Given the description of an element on the screen output the (x, y) to click on. 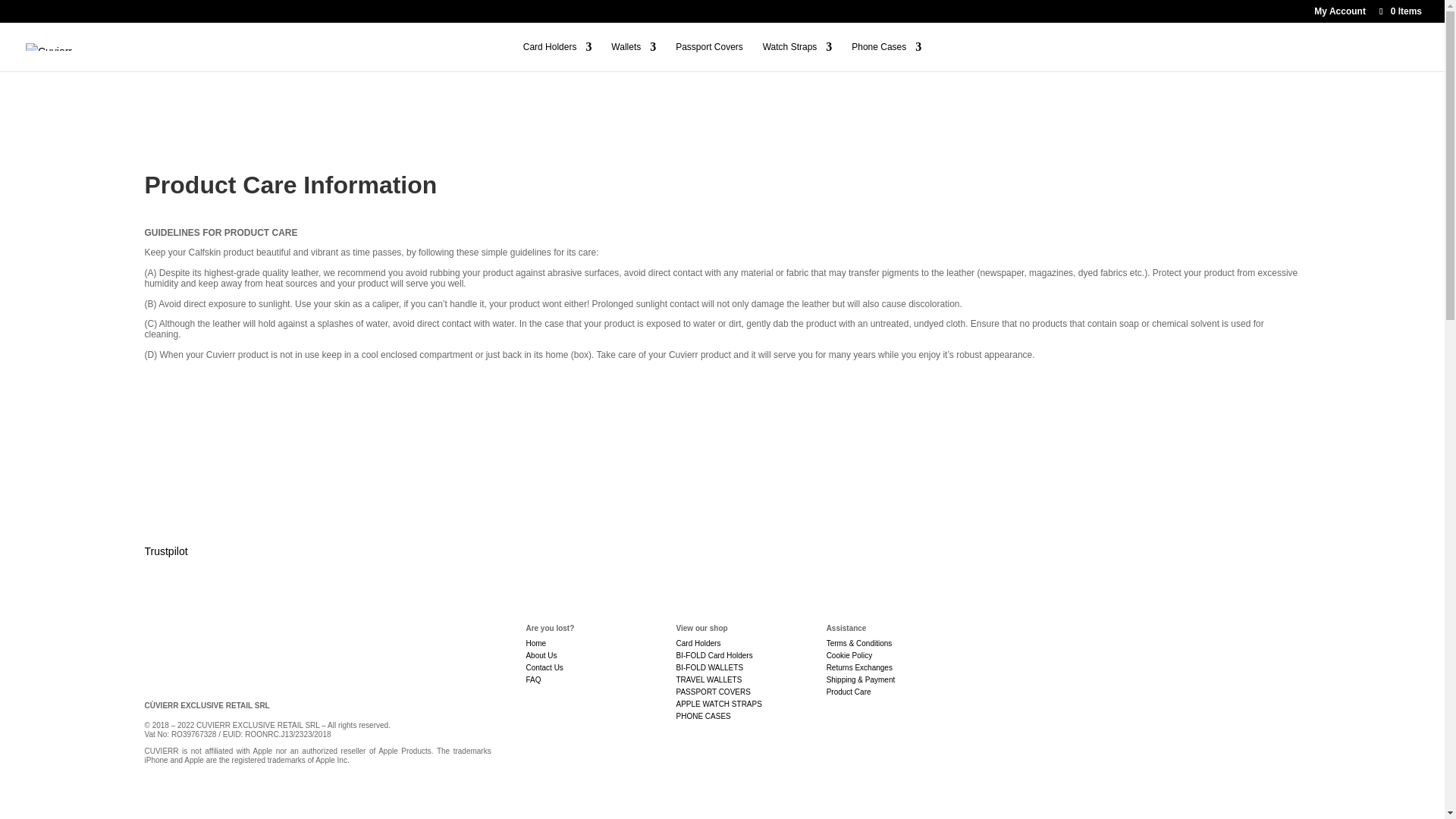
0 Items (1399, 10)
Contact Us (543, 667)
My Account (1339, 14)
Card Holders (698, 643)
Passport Covers (708, 56)
FAQ (532, 679)
About Us (540, 655)
Trustpilot (165, 551)
PASSPORT COVERS (714, 691)
BI-FOLD Card Holders (714, 655)
